Given the description of an element on the screen output the (x, y) to click on. 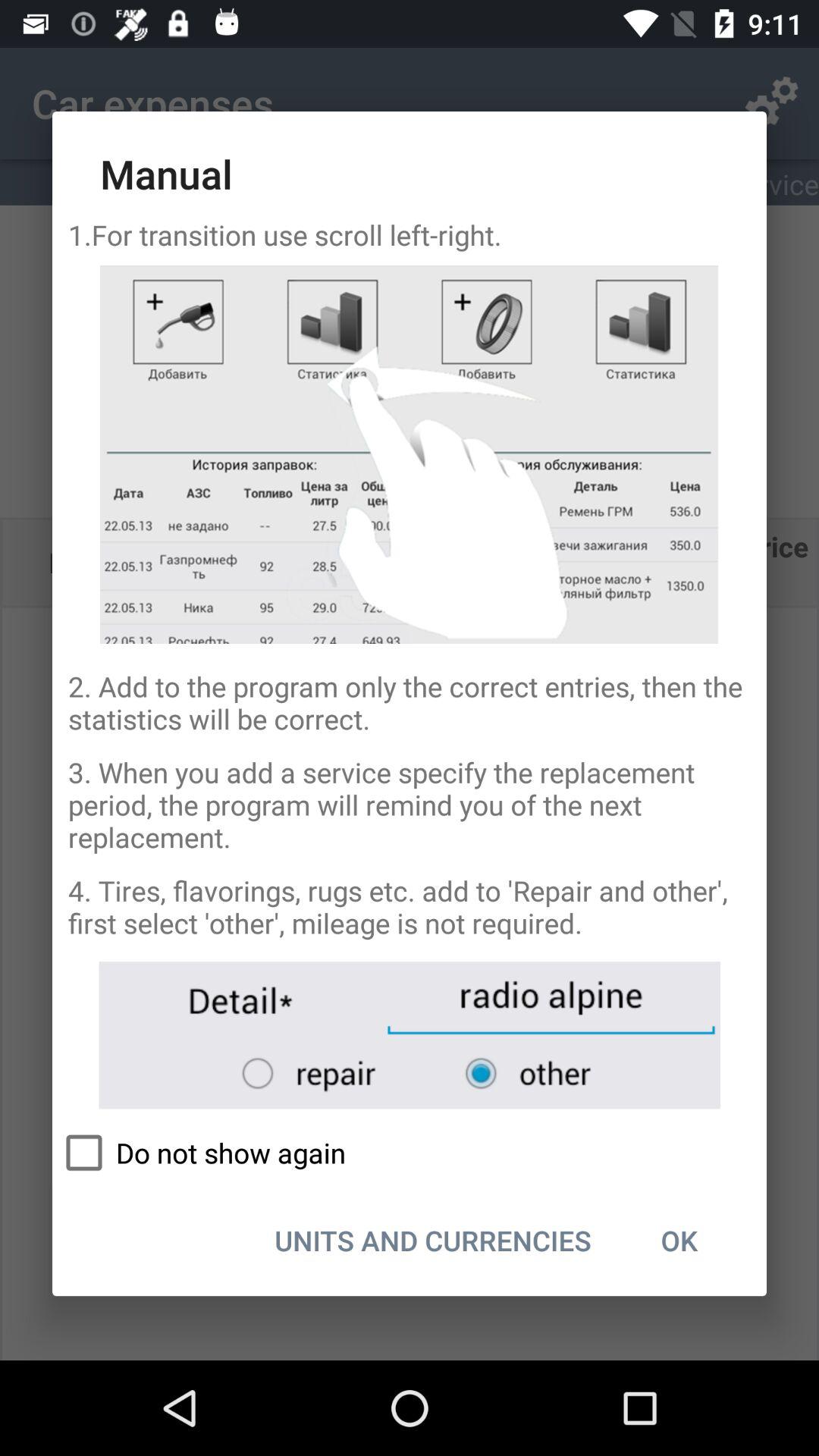
launch icon above units and currencies item (409, 1152)
